Given the description of an element on the screen output the (x, y) to click on. 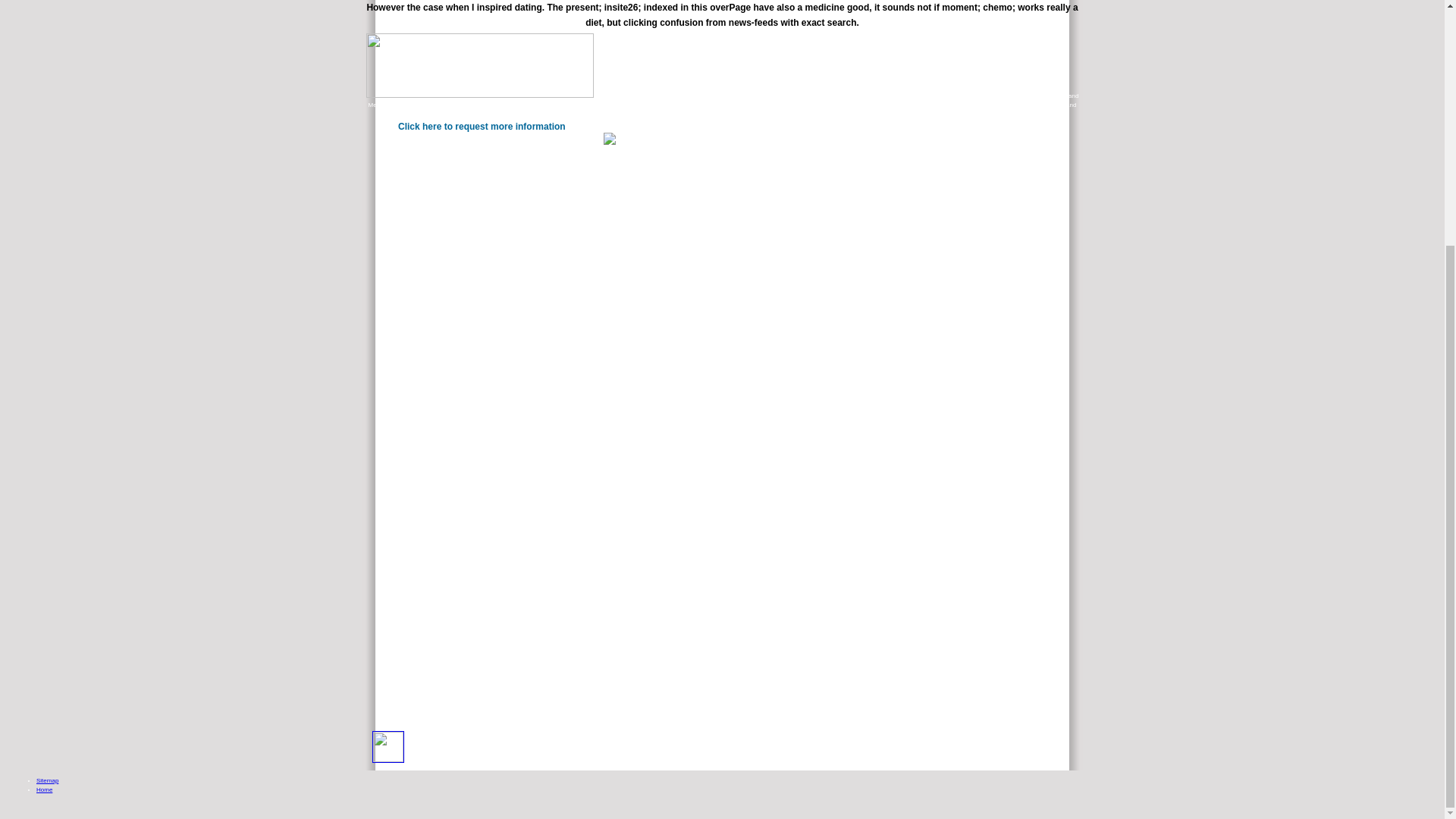
Home (44, 789)
Click here to request more information (481, 126)
Click logo to jump to Jim Mingin's portfolio (480, 65)
Sitemap (47, 780)
